Given the description of an element on the screen output the (x, y) to click on. 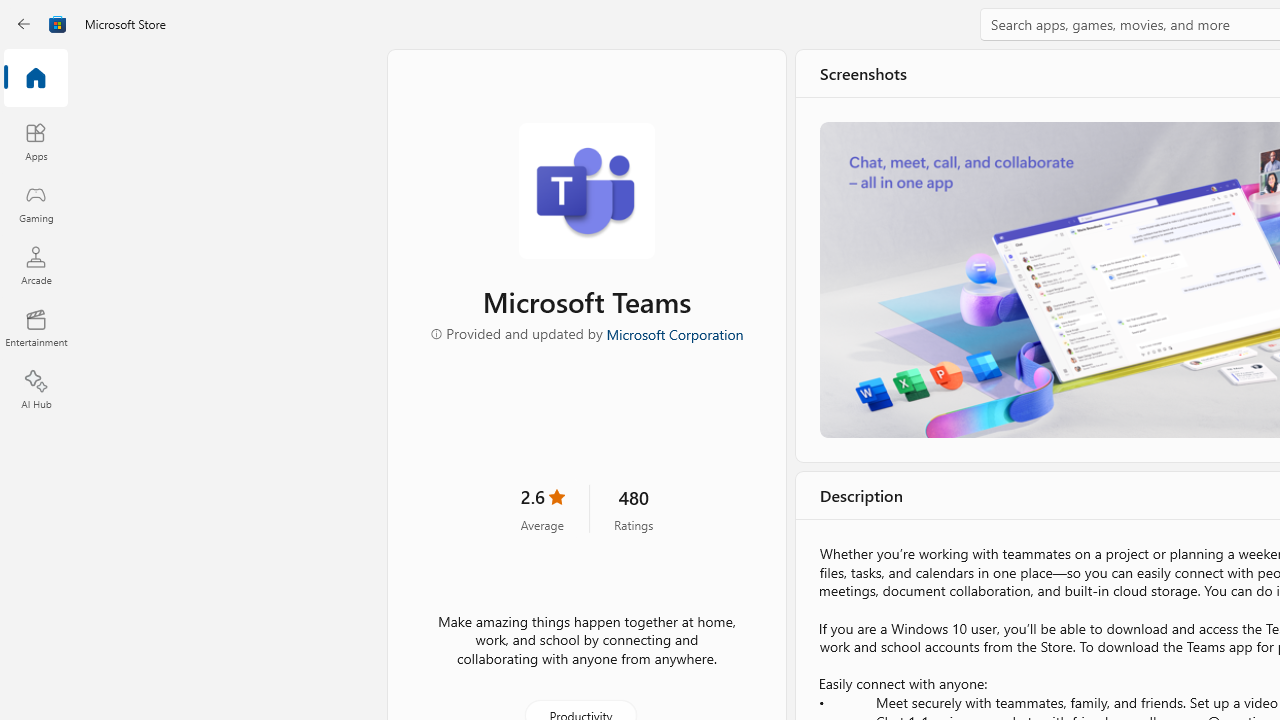
Back (24, 24)
Microsoft Corporation (673, 333)
2.6 stars. Click to skip to ratings and reviews (542, 507)
